Given the description of an element on the screen output the (x, y) to click on. 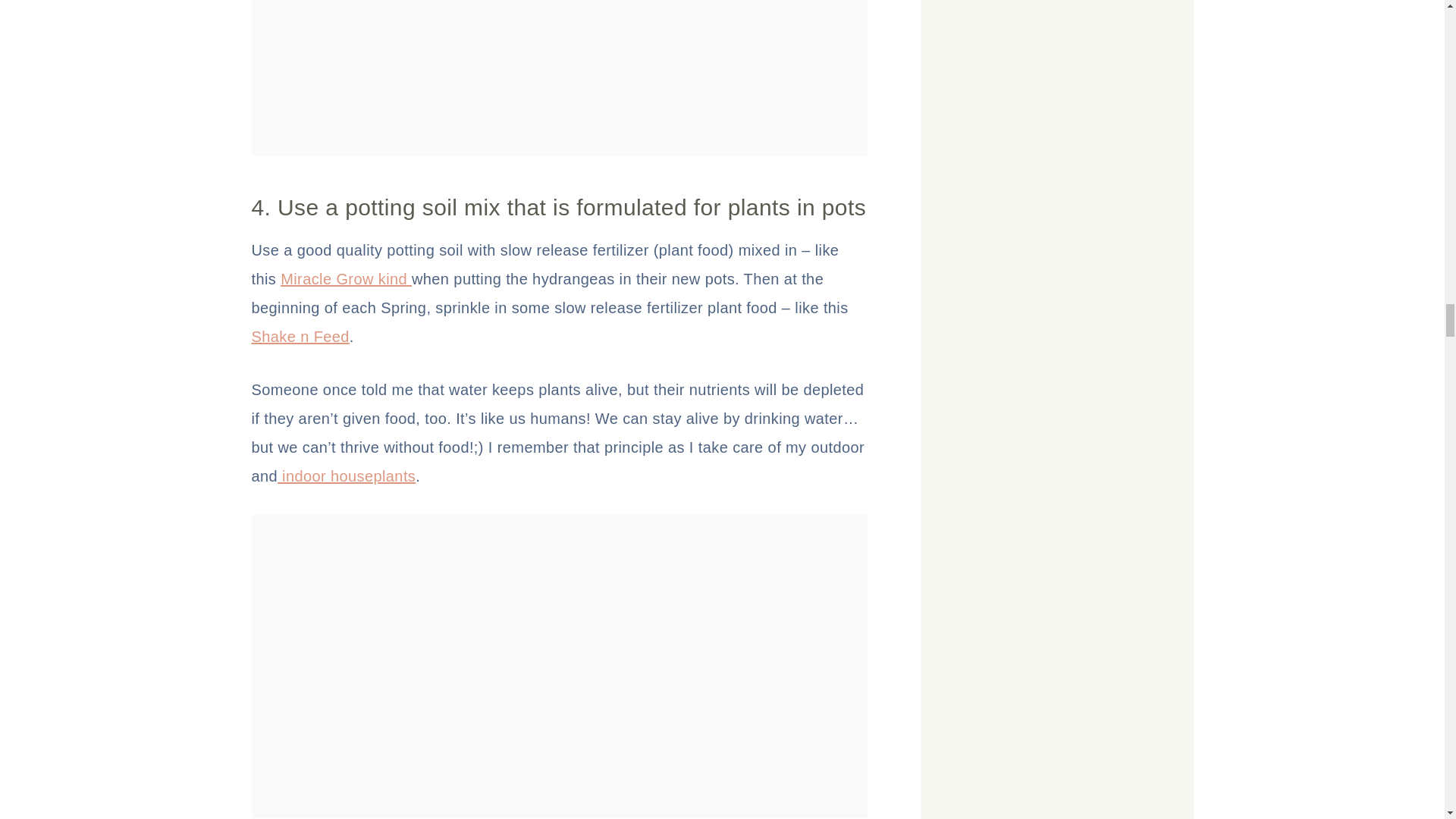
Shake n Feed (300, 336)
indoor houseplants (346, 475)
Miracle Grow kind (346, 279)
